Given the description of an element on the screen output the (x, y) to click on. 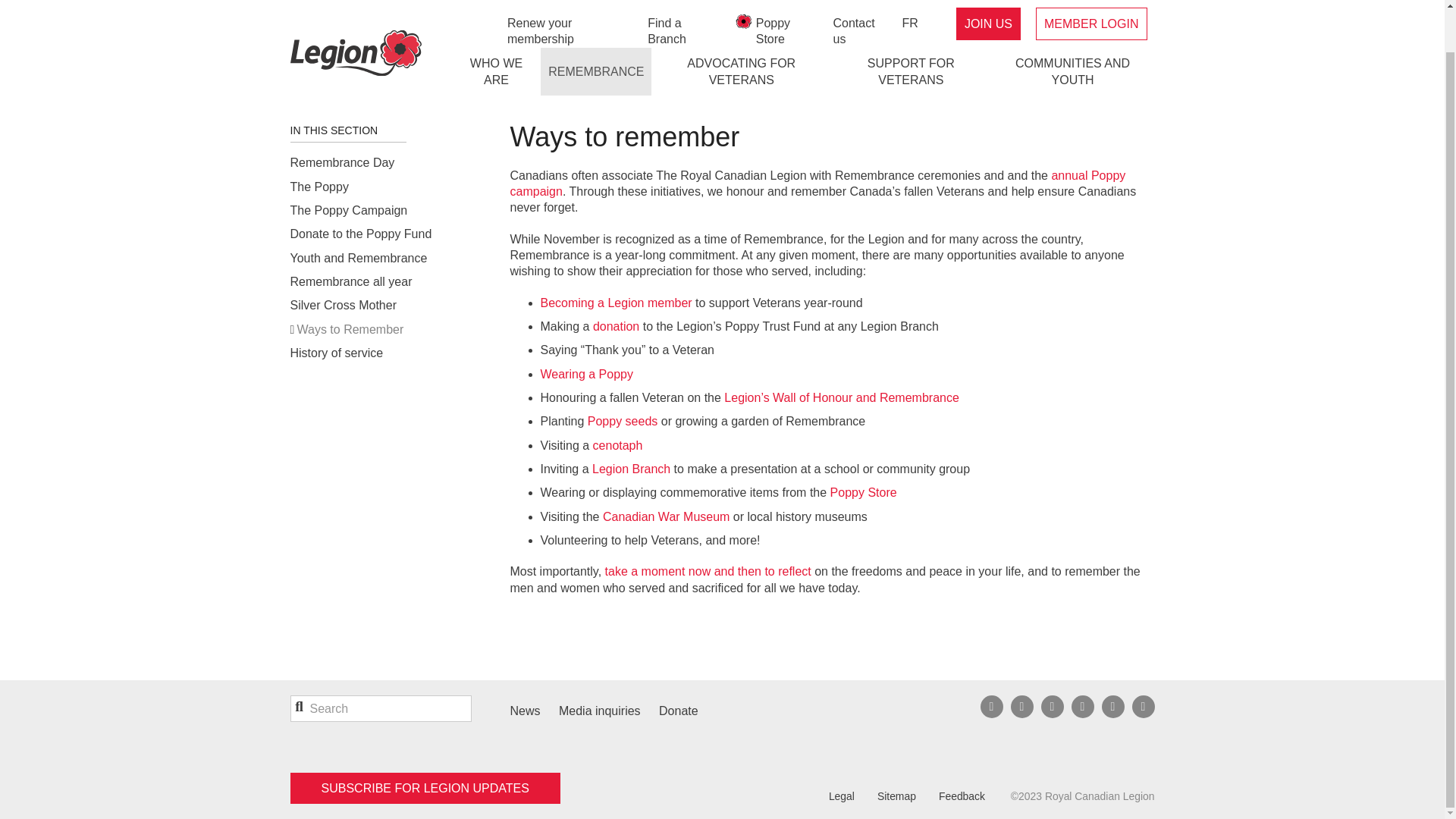
WHO WE ARE (495, 26)
Contact us (859, 1)
REMEMBRANCE (595, 26)
Poppy Store (786, 1)
ADVOCATING FOR VETERANS (740, 26)
JOIN US (988, 1)
Search input (379, 708)
Royal Canadian Legion (354, 18)
Renew your membership (568, 1)
Find a Branch (682, 1)
